Given the description of an element on the screen output the (x, y) to click on. 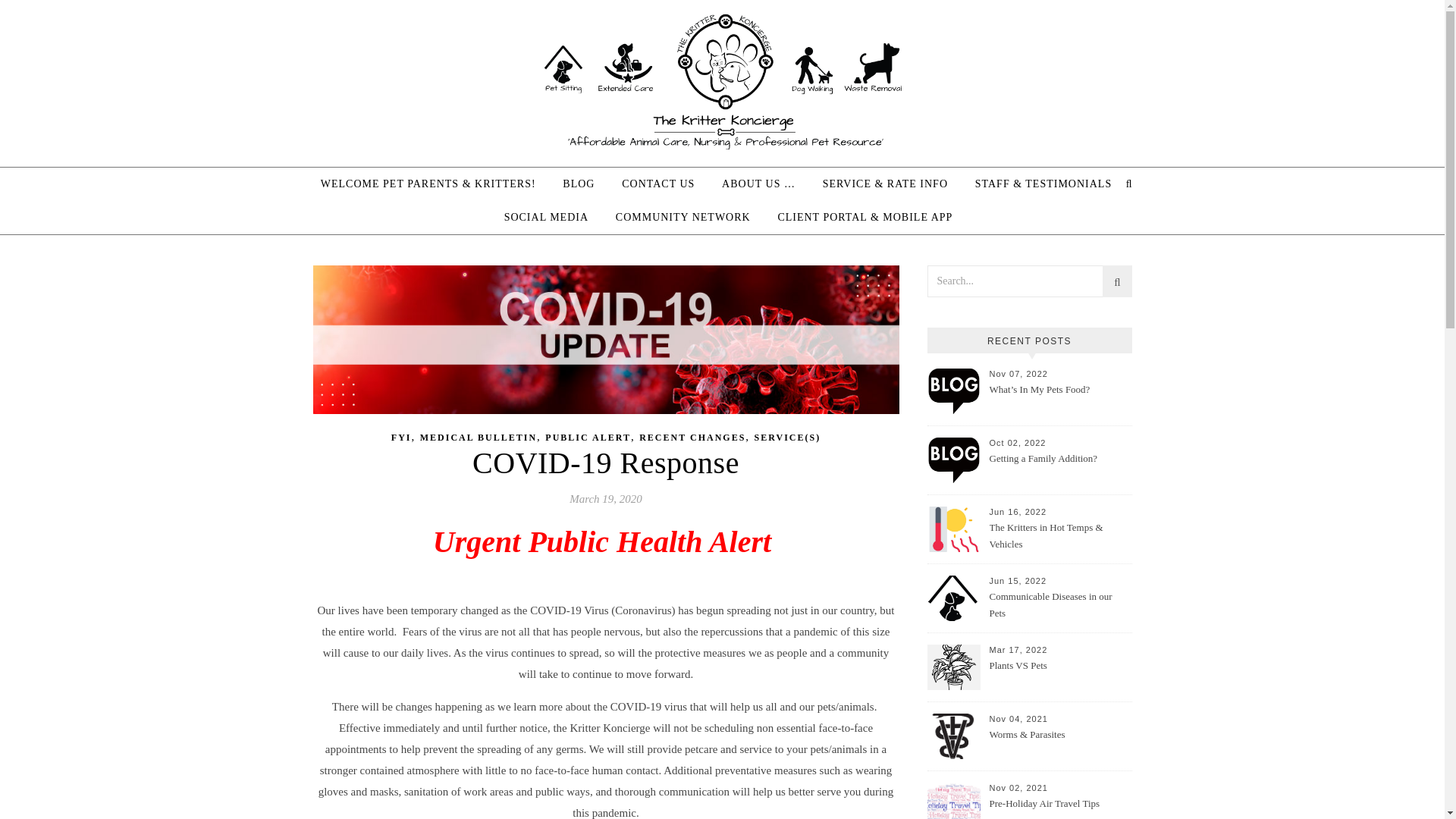
COMMUNITY NETWORK (683, 217)
MEDICAL BULLETIN (478, 437)
SOCIAL MEDIA (545, 217)
PUBLIC ALERT (587, 437)
Communicable Diseases in our Pets (1058, 605)
The Kritter Koncierge (721, 80)
CONTACT US (658, 183)
Getting a Family Addition? (1058, 467)
Plants VS Pets (1058, 674)
RECENT CHANGES (692, 437)
FYI (401, 437)
st (1115, 283)
BLOG (578, 183)
